Given the description of an element on the screen output the (x, y) to click on. 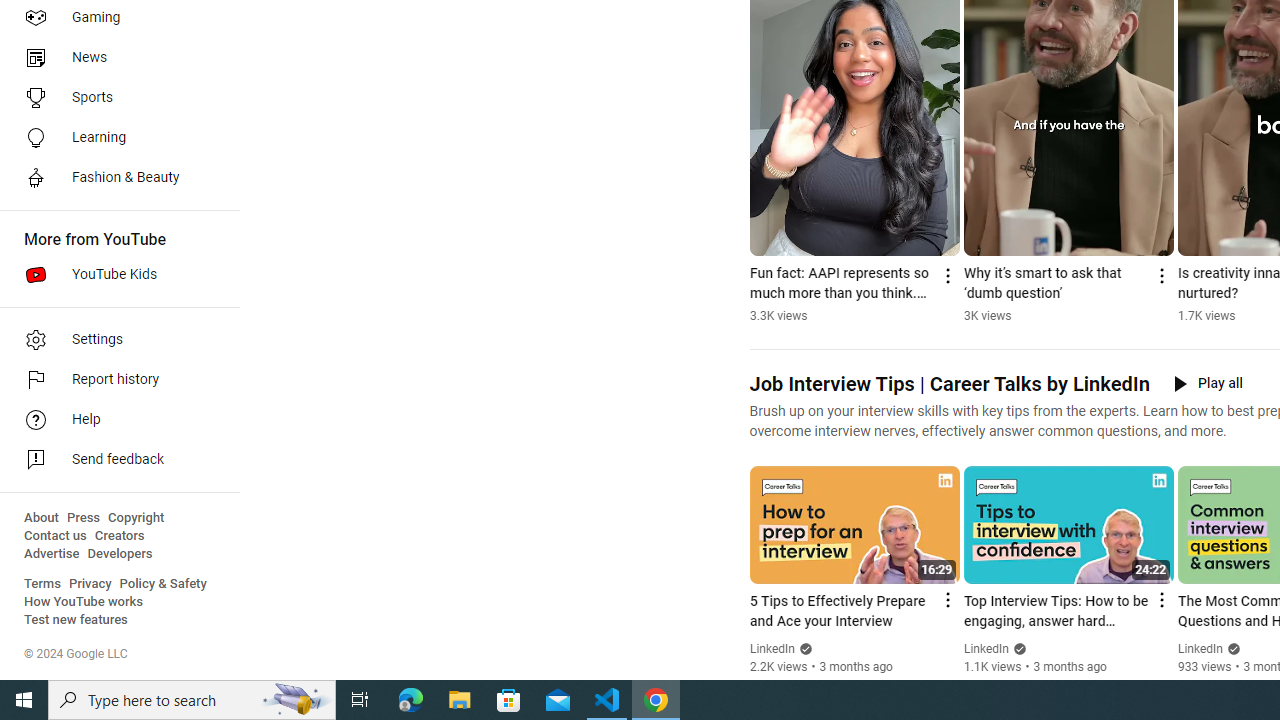
Policy & Safety (163, 584)
Action menu (1160, 600)
Play all (1208, 384)
About (41, 518)
Terms (42, 584)
LinkedIn (1200, 649)
How YouTube works (83, 602)
Report history (113, 380)
Send feedback (113, 459)
Job Interview Tips | Career Talks by LinkedIn (948, 384)
Sports (113, 97)
Verified (1231, 647)
Contact us (55, 536)
